Given the description of an element on the screen output the (x, y) to click on. 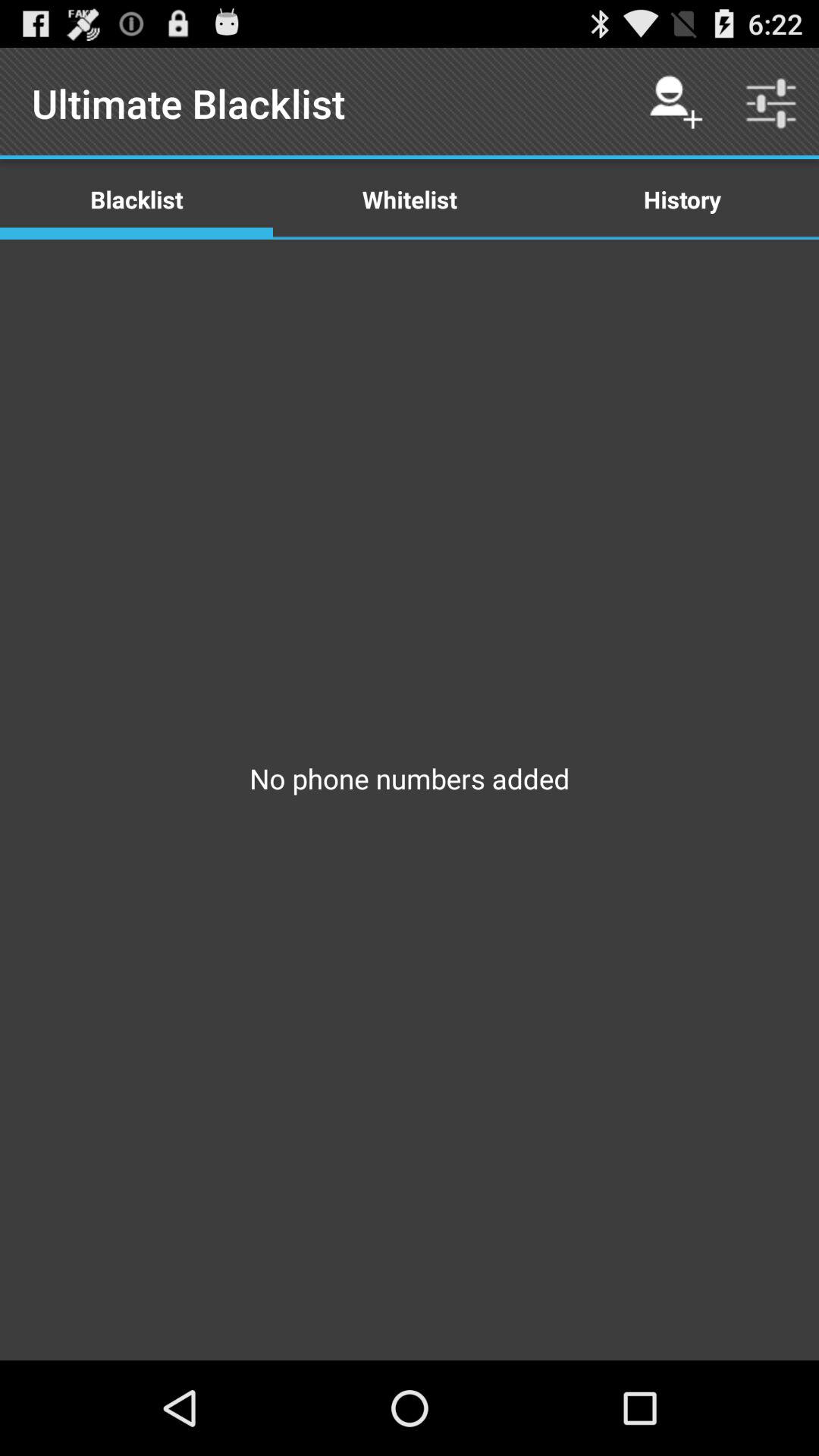
turn on the icon above the history (771, 103)
